Given the description of an element on the screen output the (x, y) to click on. 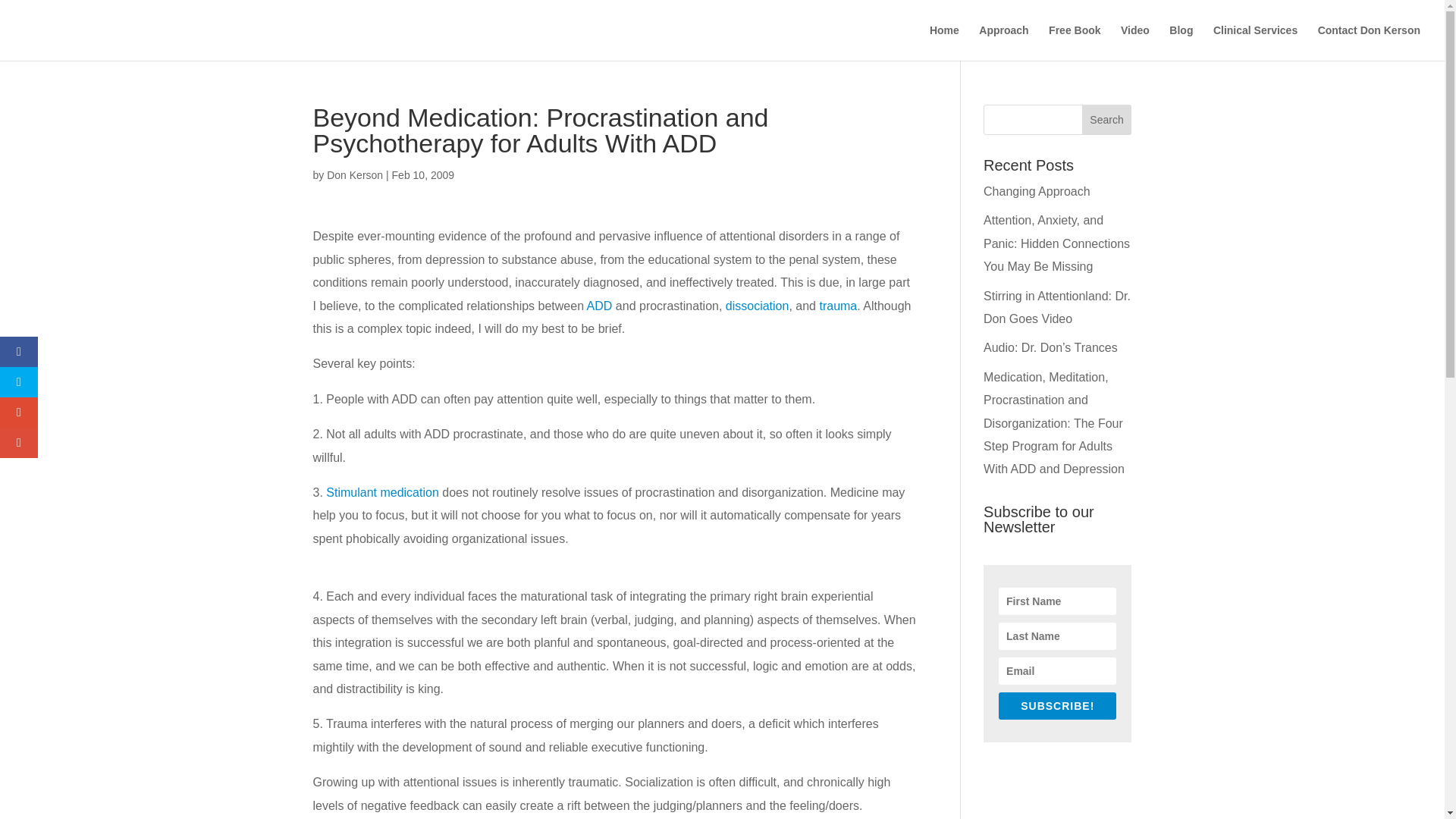
Posts by Don Kerson (354, 174)
Free Book (1074, 42)
Stirring in Attentionland: Dr. Don Goes Video (1057, 307)
Approach (1002, 42)
Search (1106, 119)
Search (1106, 119)
dissociation (757, 305)
Contact Don Kerson (1369, 42)
Clinical Services (1254, 42)
Changing Approach (1037, 191)
